Given the description of an element on the screen output the (x, y) to click on. 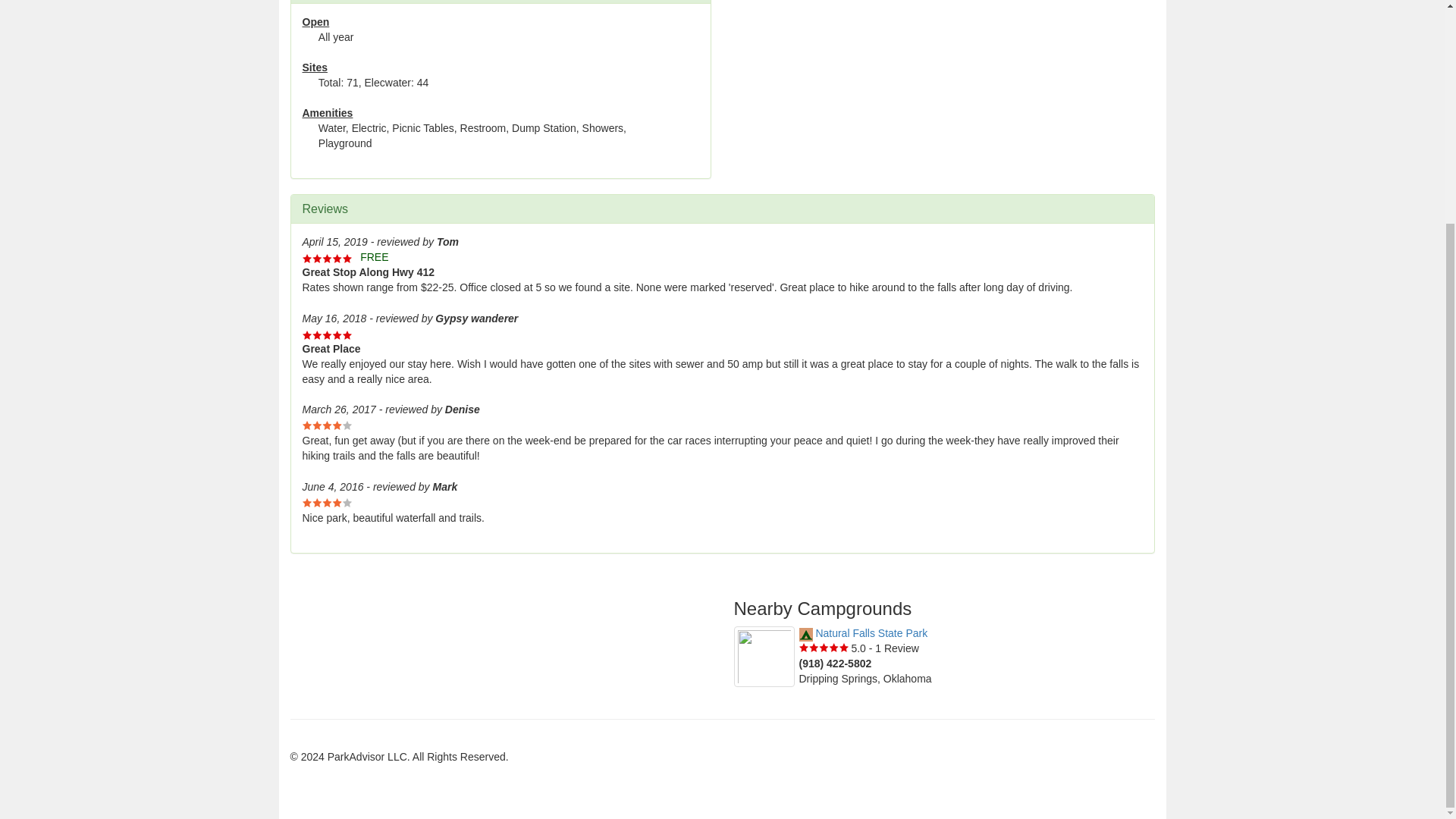
 Natural Falls State Park (863, 633)
